Given the description of an element on the screen output the (x, y) to click on. 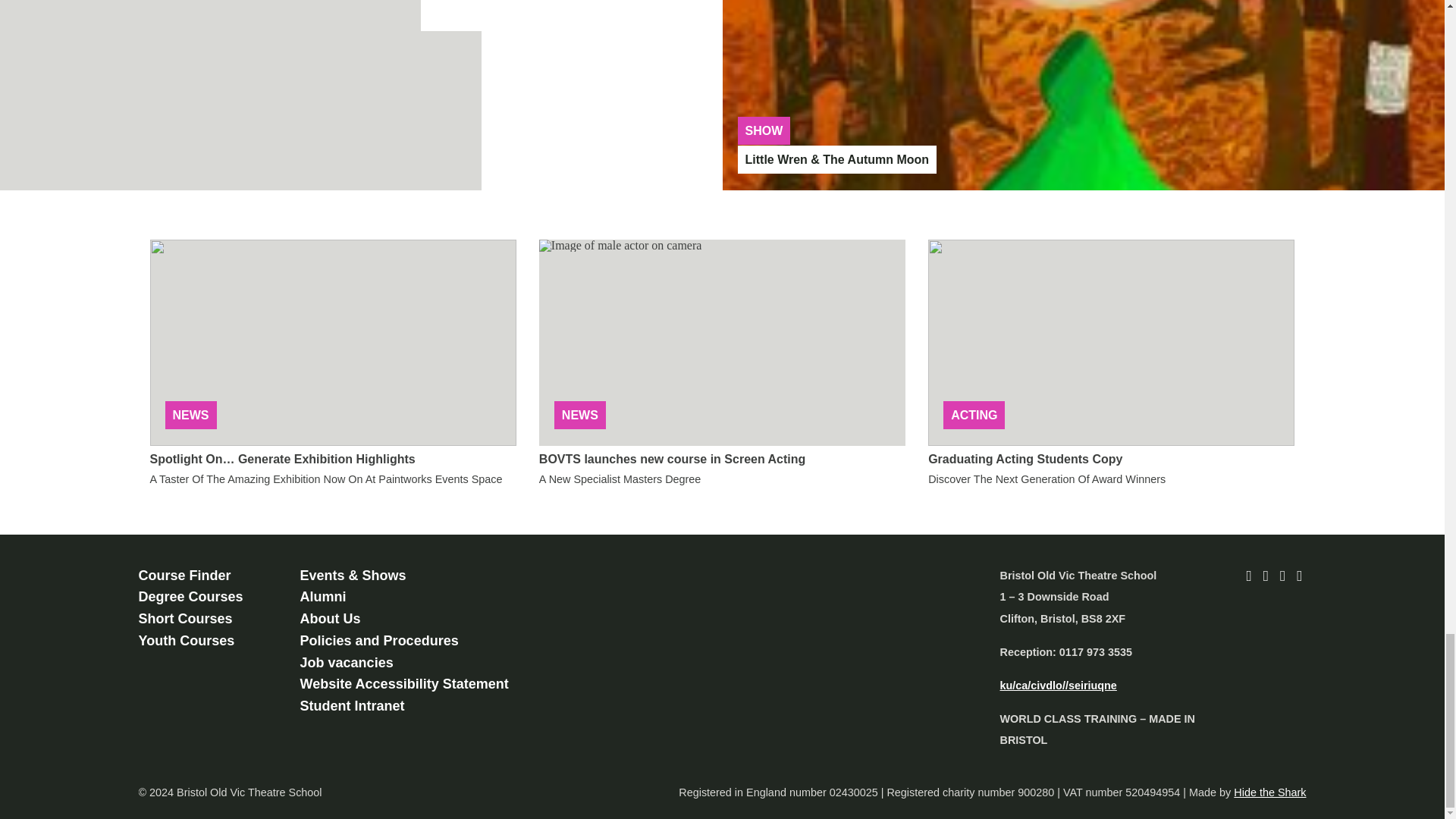
Website Accessibility Statement (403, 683)
Degree Courses (190, 596)
Course Finder (184, 574)
Student Intranet (351, 705)
Alumni (322, 596)
About Us (330, 618)
Job vacancies (346, 662)
Policies and Procedures (378, 640)
